Given the description of an element on the screen output the (x, y) to click on. 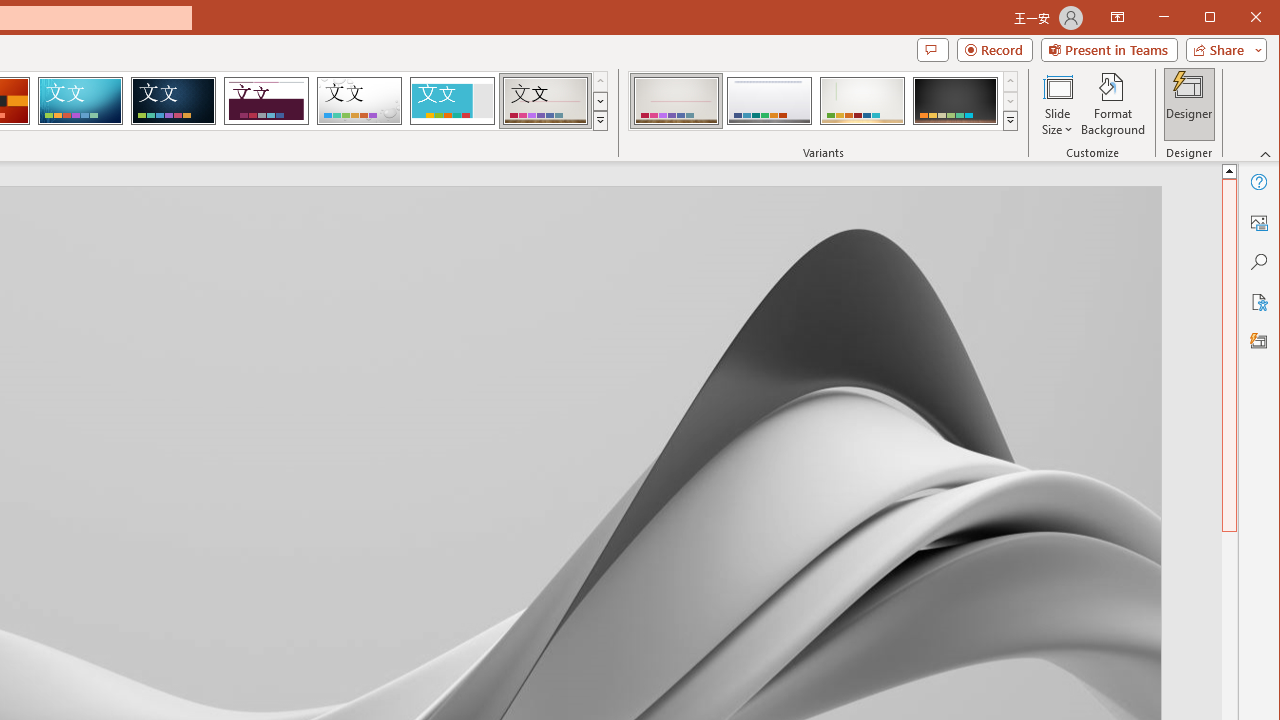
Themes (600, 120)
Gallery Variant 2 (769, 100)
Damask (173, 100)
Frame (452, 100)
